Given the description of an element on the screen output the (x, y) to click on. 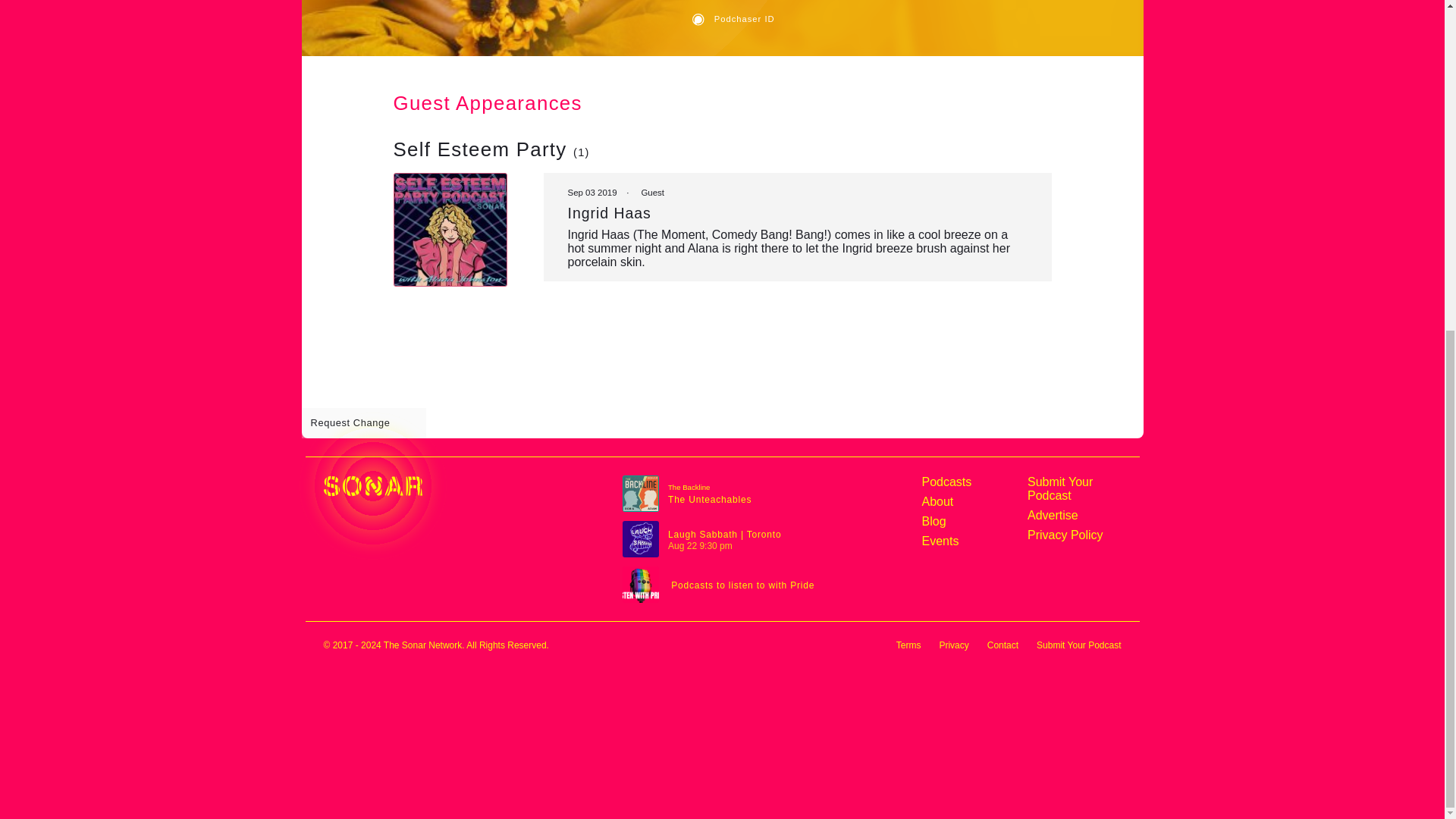
Events (968, 540)
Blog (968, 521)
Podcasts (968, 481)
Advertise (1074, 515)
Submit Your Podcast (1074, 488)
Podchaser ID (750, 19)
The Unteachables (709, 499)
Privacy Policy (1074, 535)
Contact (1002, 644)
Submit Your Podcast (1078, 644)
